Given the description of an element on the screen output the (x, y) to click on. 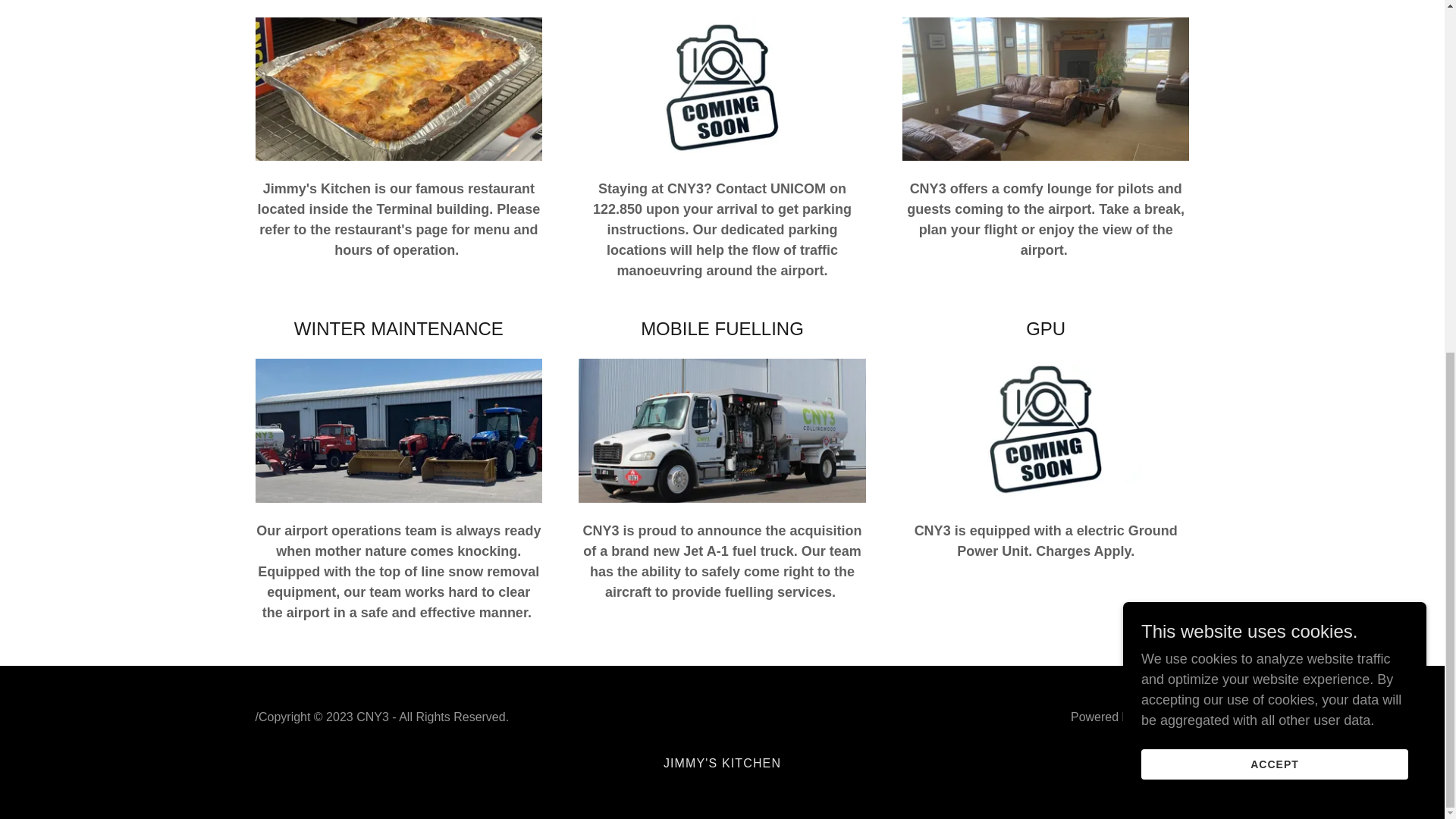
JIMMY'S KITCHEN (722, 763)
GoDaddy (1163, 716)
ACCEPT (1274, 149)
